Given the description of an element on the screen output the (x, y) to click on. 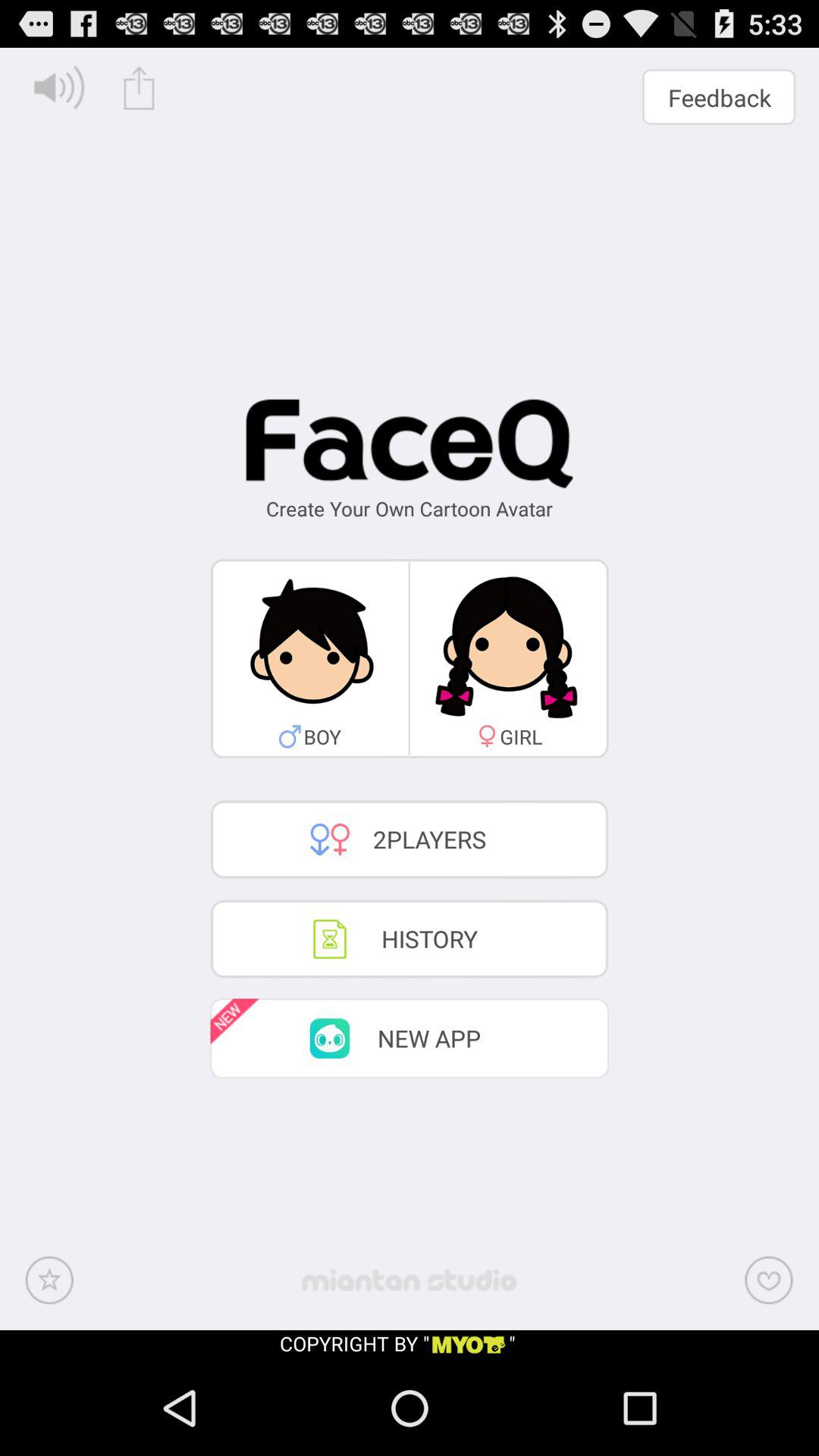
click on the volume icon (59, 87)
click the bottom left icon (49, 1280)
select the icon preceding the 2players (329, 839)
select the second image which is below the text faceq (509, 658)
select the logo which is just beside the text copyright by (468, 1344)
feedback (719, 96)
select the bottom right icon (769, 1280)
